Given the description of an element on the screen output the (x, y) to click on. 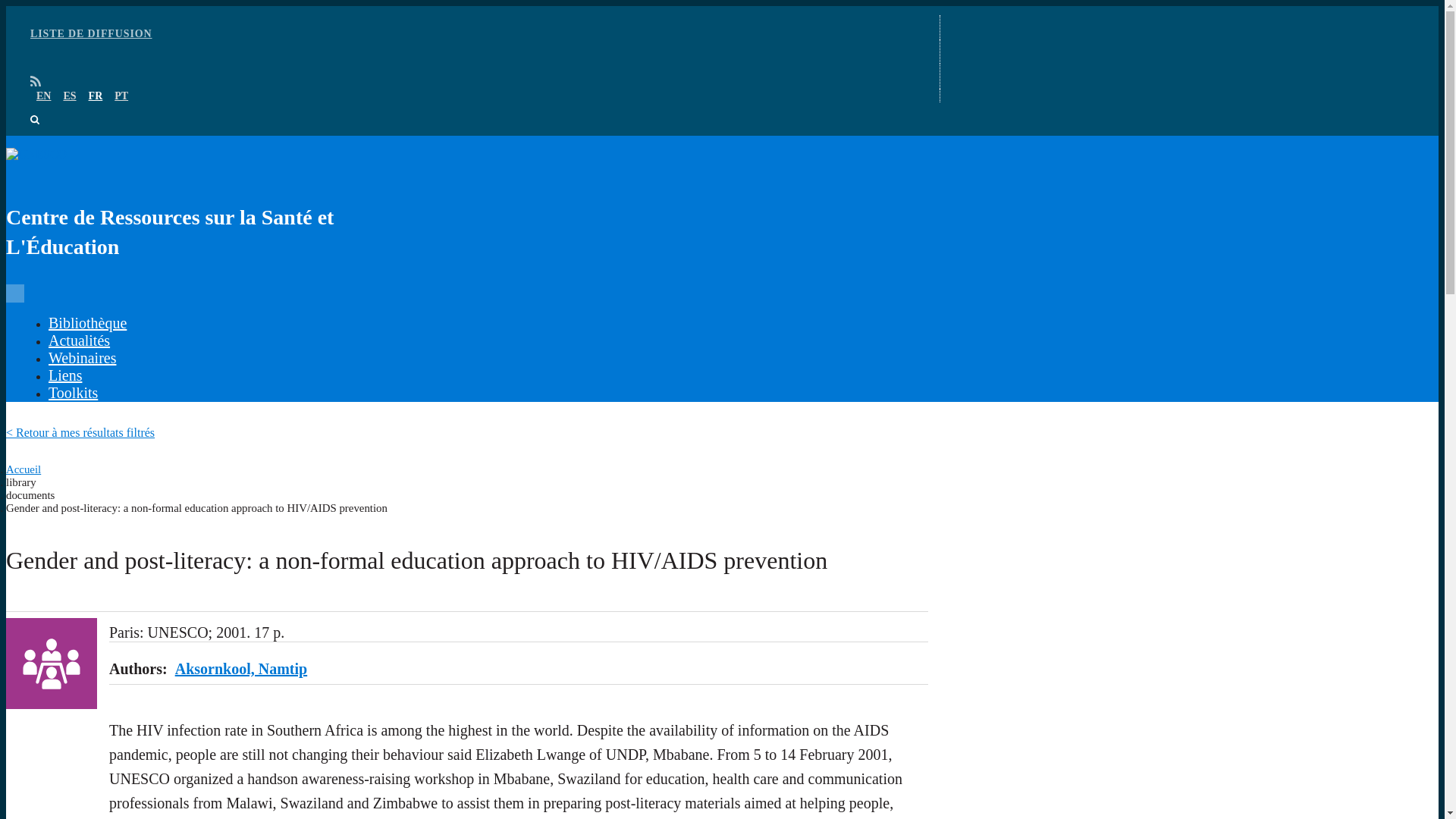
LISTE DE DIFFUSION (91, 33)
PT (121, 95)
Webinaires (82, 357)
Aller au contenu principal (722, 7)
FR (95, 95)
Liens (64, 375)
Aksornkool, Namtip (240, 668)
ES (68, 95)
Toolkits (72, 392)
Accueil (22, 469)
